Given the description of an element on the screen output the (x, y) to click on. 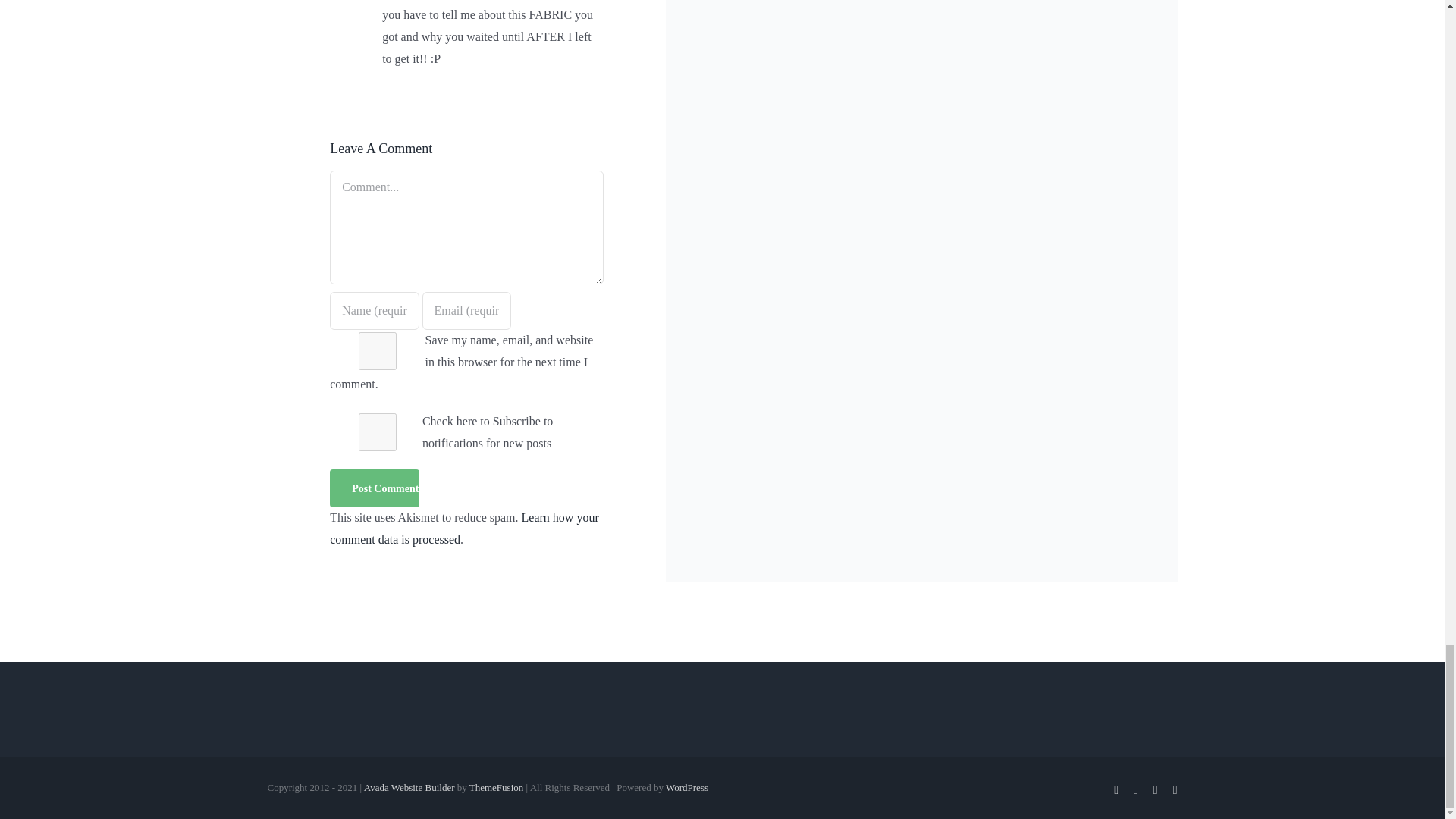
yes (377, 351)
1 (377, 432)
Post Comment (374, 487)
